Given the description of an element on the screen output the (x, y) to click on. 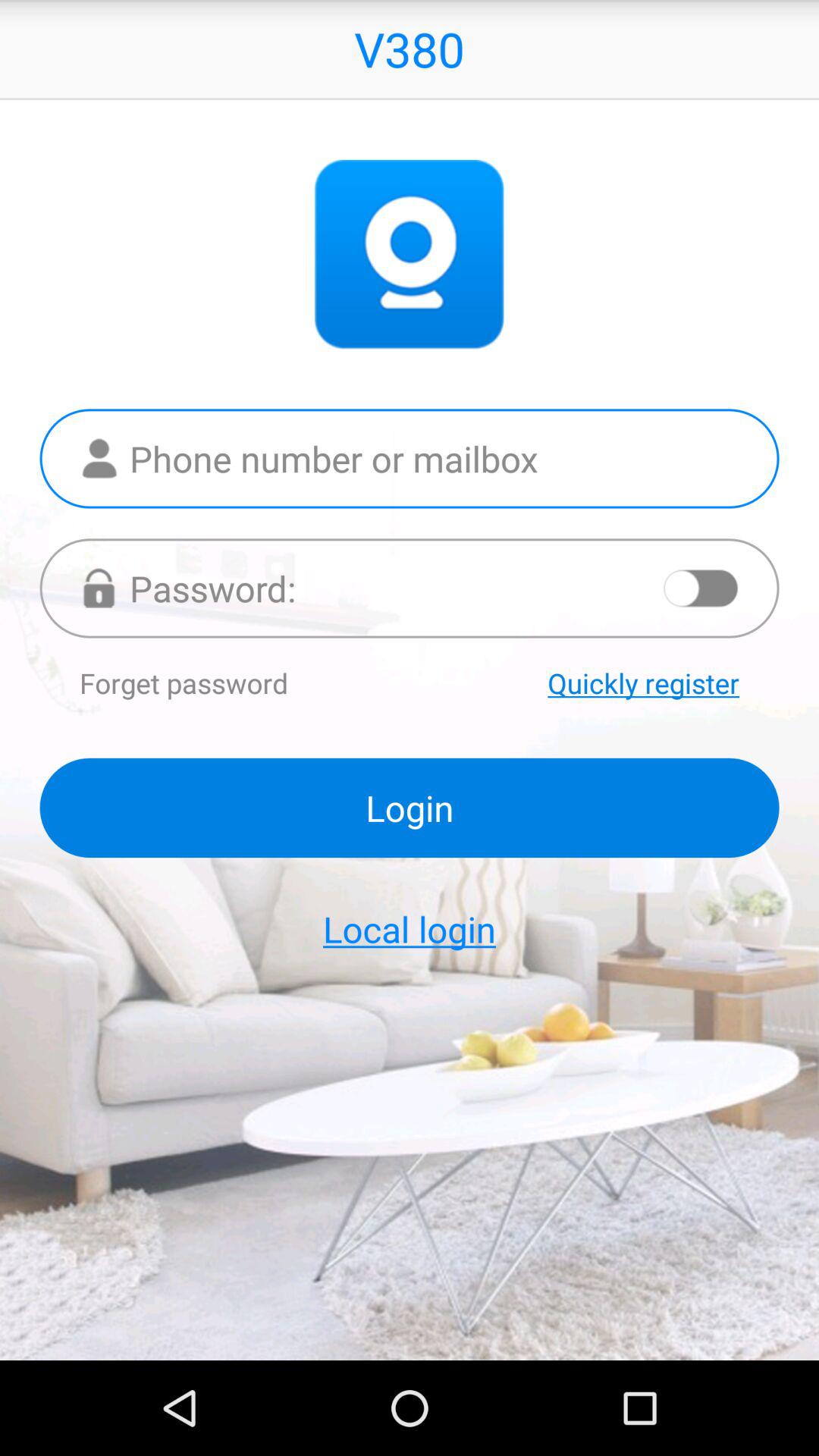
enter your phone number or email (409, 458)
